Given the description of an element on the screen output the (x, y) to click on. 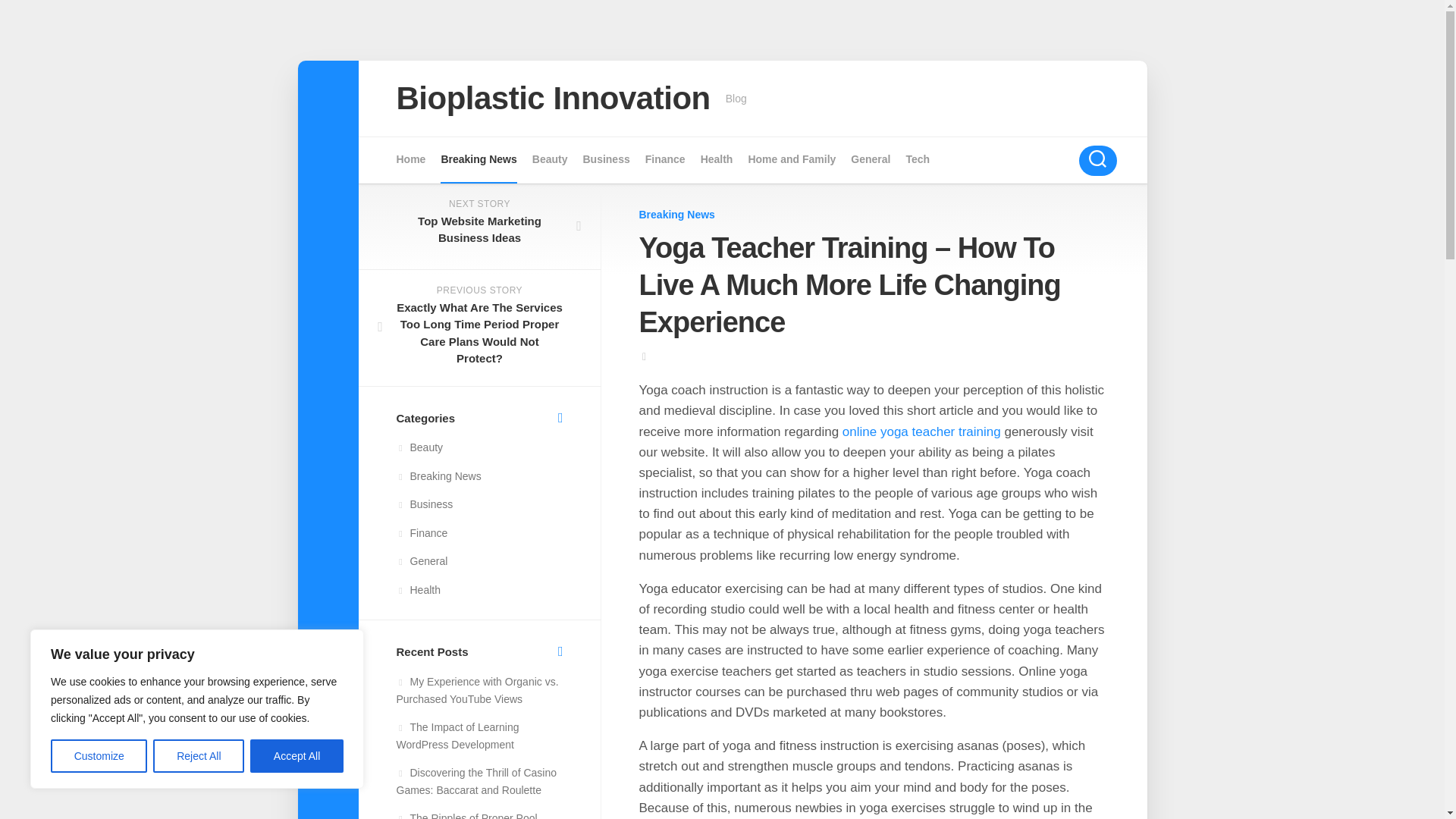
Bioplastic Innovation (553, 98)
Business (605, 159)
Home (410, 159)
Finance (665, 159)
General (869, 159)
Breaking News (478, 159)
Breaking News (676, 214)
Accept All (296, 756)
Customize (98, 756)
Tech (917, 159)
Health (716, 159)
Beauty (549, 159)
Home and Family (791, 159)
